Given the description of an element on the screen output the (x, y) to click on. 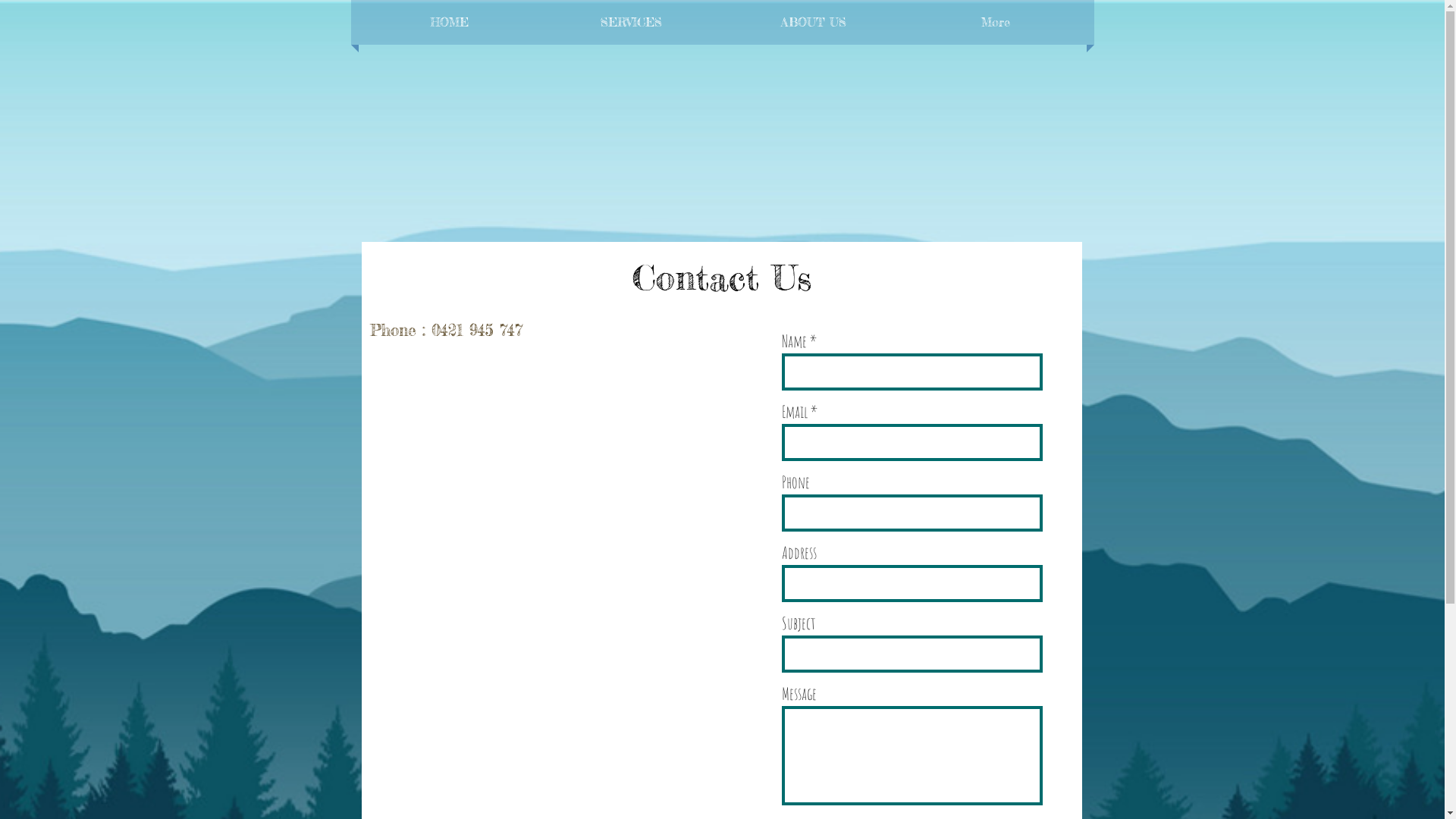
SERVICES Element type: text (630, 22)
ABOUT US Element type: text (812, 22)
HOME Element type: text (448, 22)
